Given the description of an element on the screen output the (x, y) to click on. 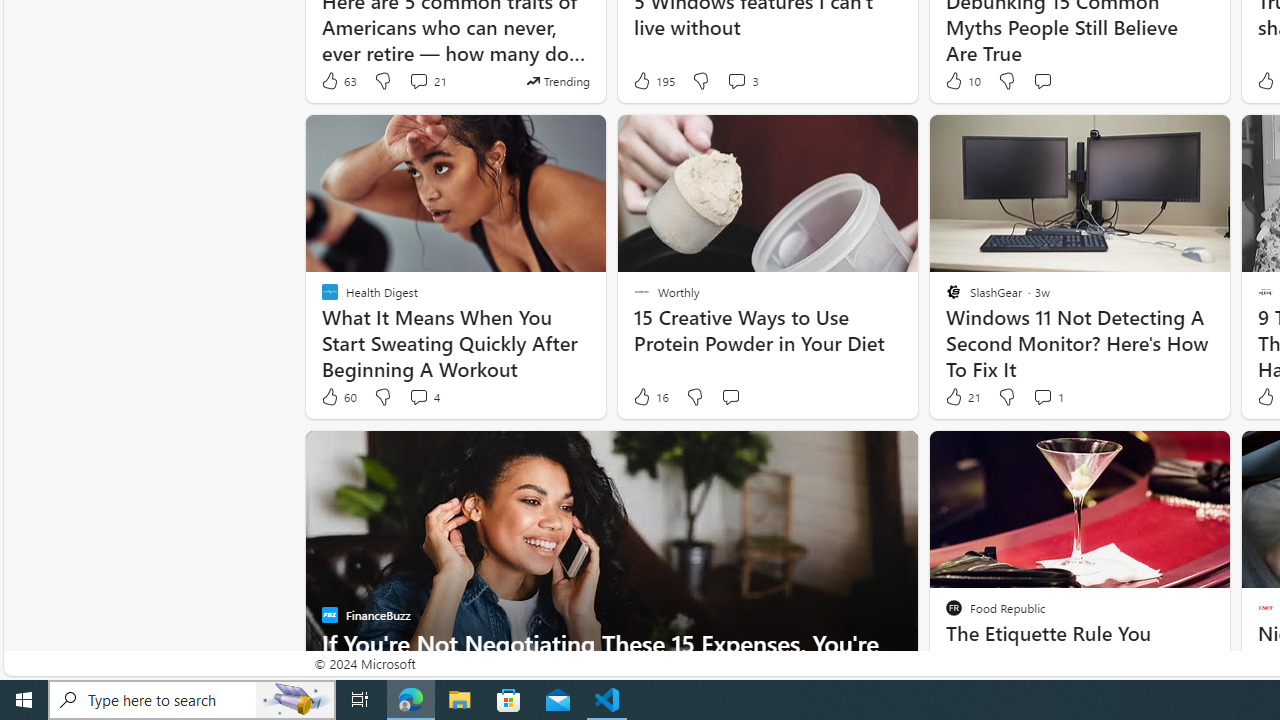
195 Like (653, 80)
21 Like (961, 397)
View comments 3 Comment (742, 80)
View comments 4 Comment (423, 397)
16 Like (650, 397)
This story is trending (557, 80)
View comments 21 Comment (418, 80)
10 Like (961, 80)
Hide this story (1169, 454)
View comments 3 Comment (736, 80)
View comments 4 Comment (418, 396)
